Given the description of an element on the screen output the (x, y) to click on. 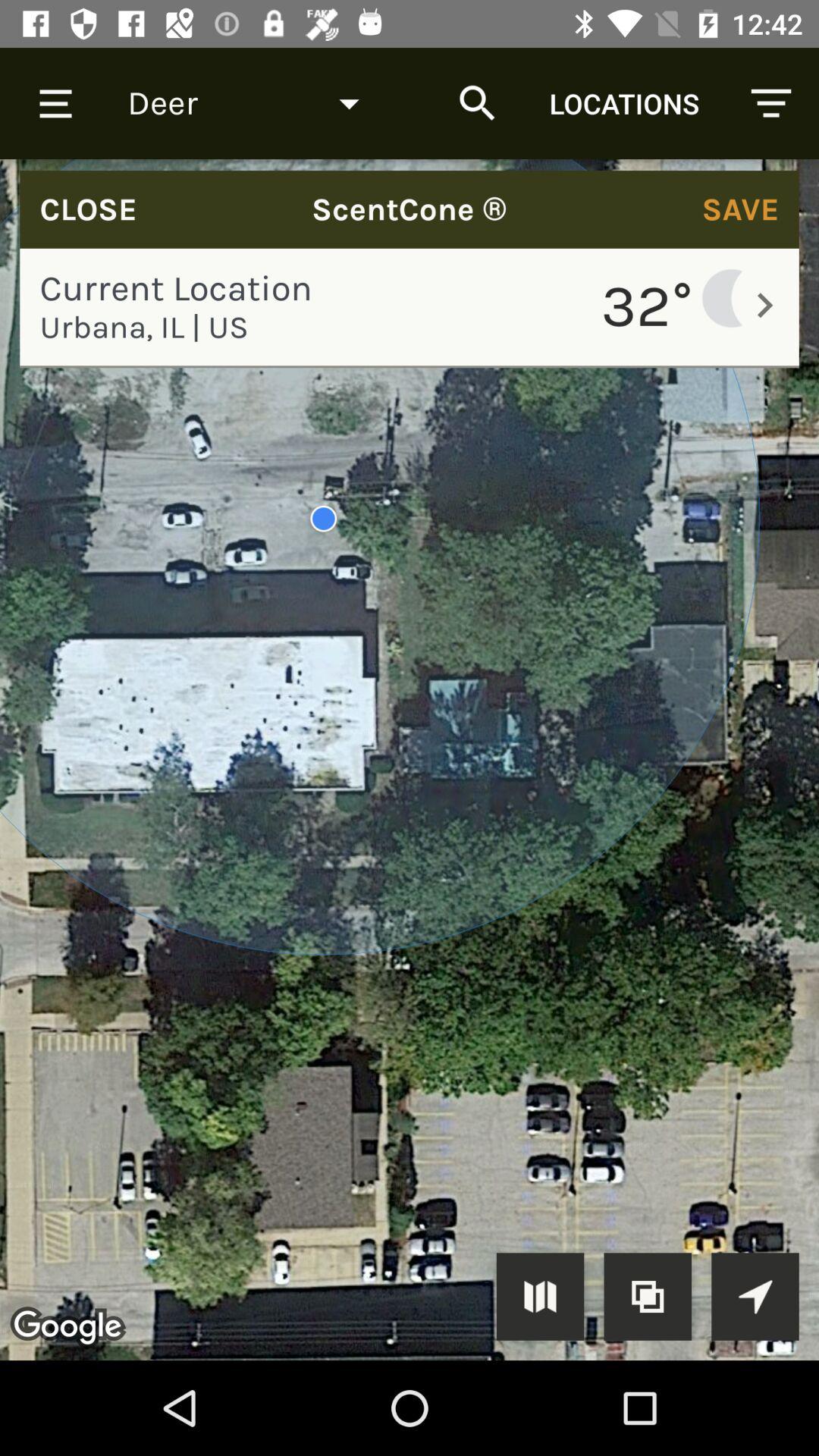
go to location (755, 1296)
